Given the description of an element on the screen output the (x, y) to click on. 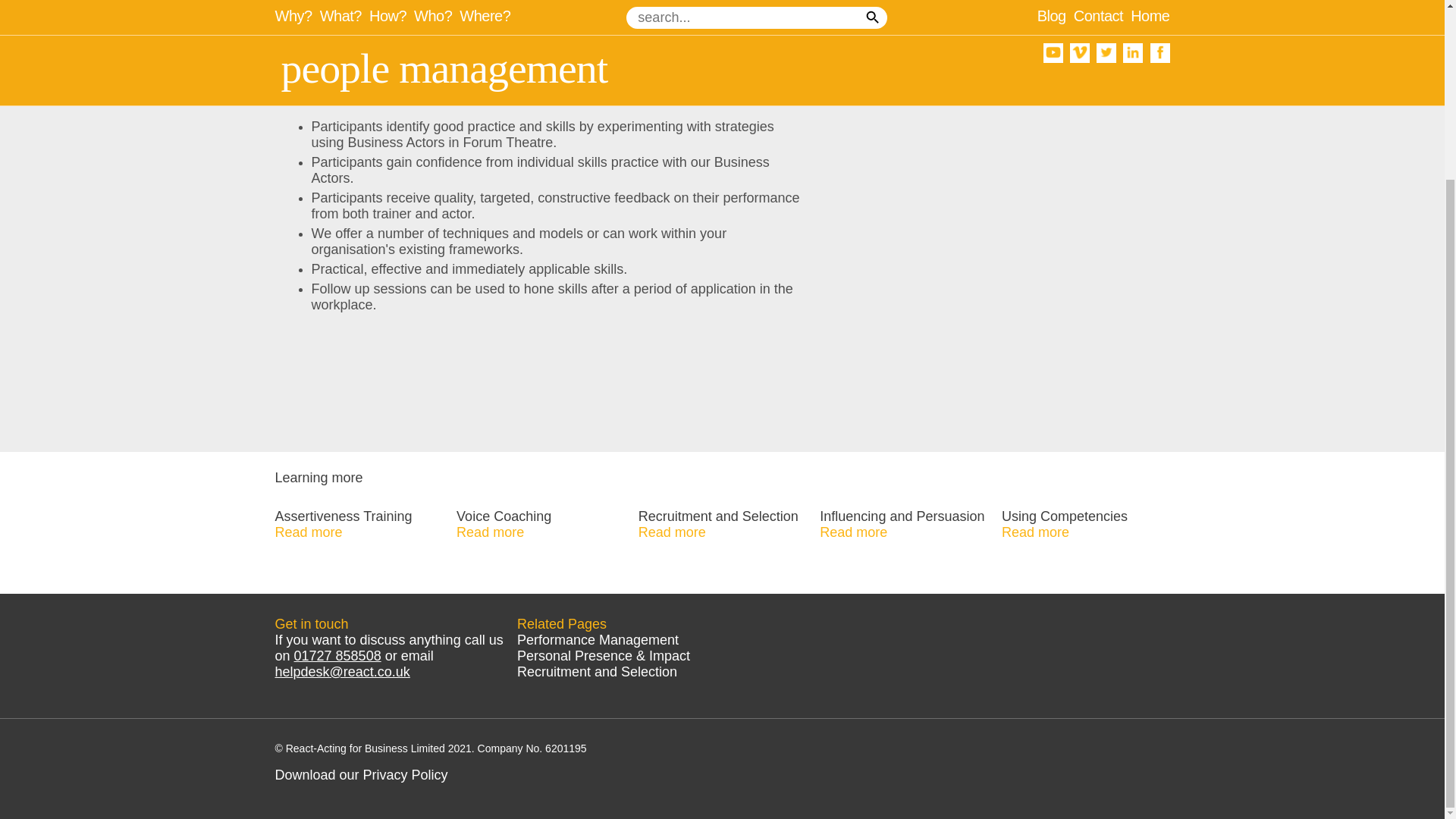
Read more (672, 531)
Read more (1034, 531)
Recruitment and Selection (596, 671)
Read more (490, 531)
Download our Privacy Policy (360, 774)
Performance Management (597, 639)
01727 858508 (337, 655)
Read more (308, 531)
Read more (852, 531)
